Given the description of an element on the screen output the (x, y) to click on. 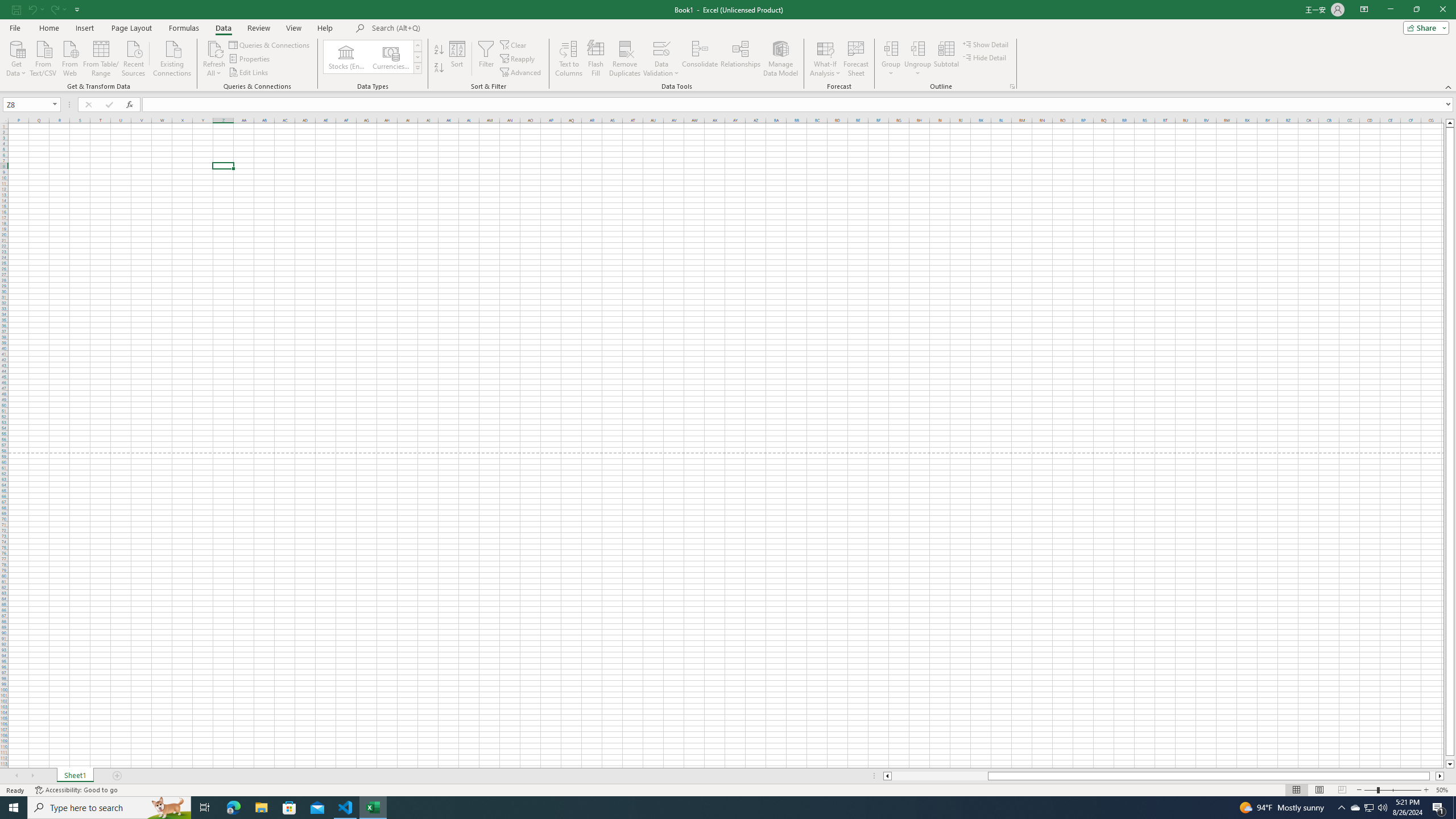
What-If Analysis (825, 58)
Stocks (English) (346, 56)
Relationships (740, 58)
Row up (417, 45)
